Given the description of an element on the screen output the (x, y) to click on. 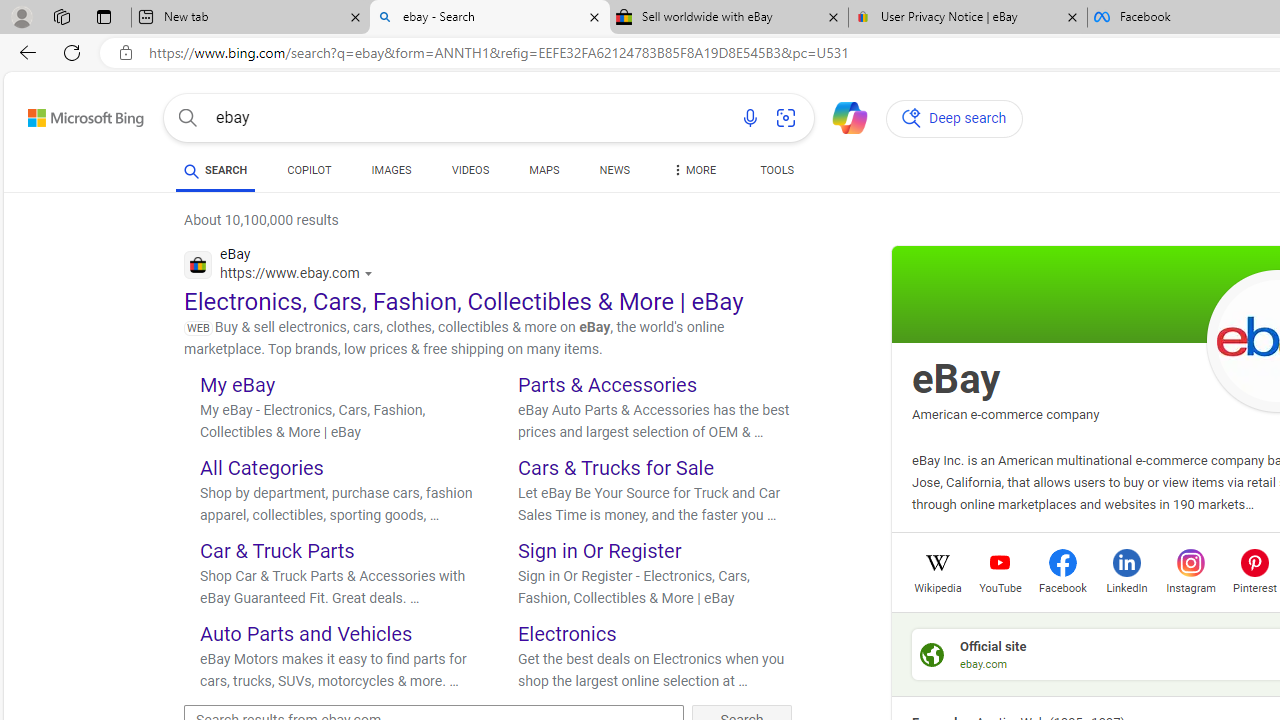
Class: sp-ofsite (932, 654)
MAPS (544, 170)
Auto Parts and Vehicles (306, 632)
NEWS (614, 170)
American e-commerce company (1005, 413)
Chat (842, 116)
Facebook (1062, 586)
MORE (692, 173)
COPILOT (309, 170)
Wikipedia (937, 586)
